Given the description of an element on the screen output the (x, y) to click on. 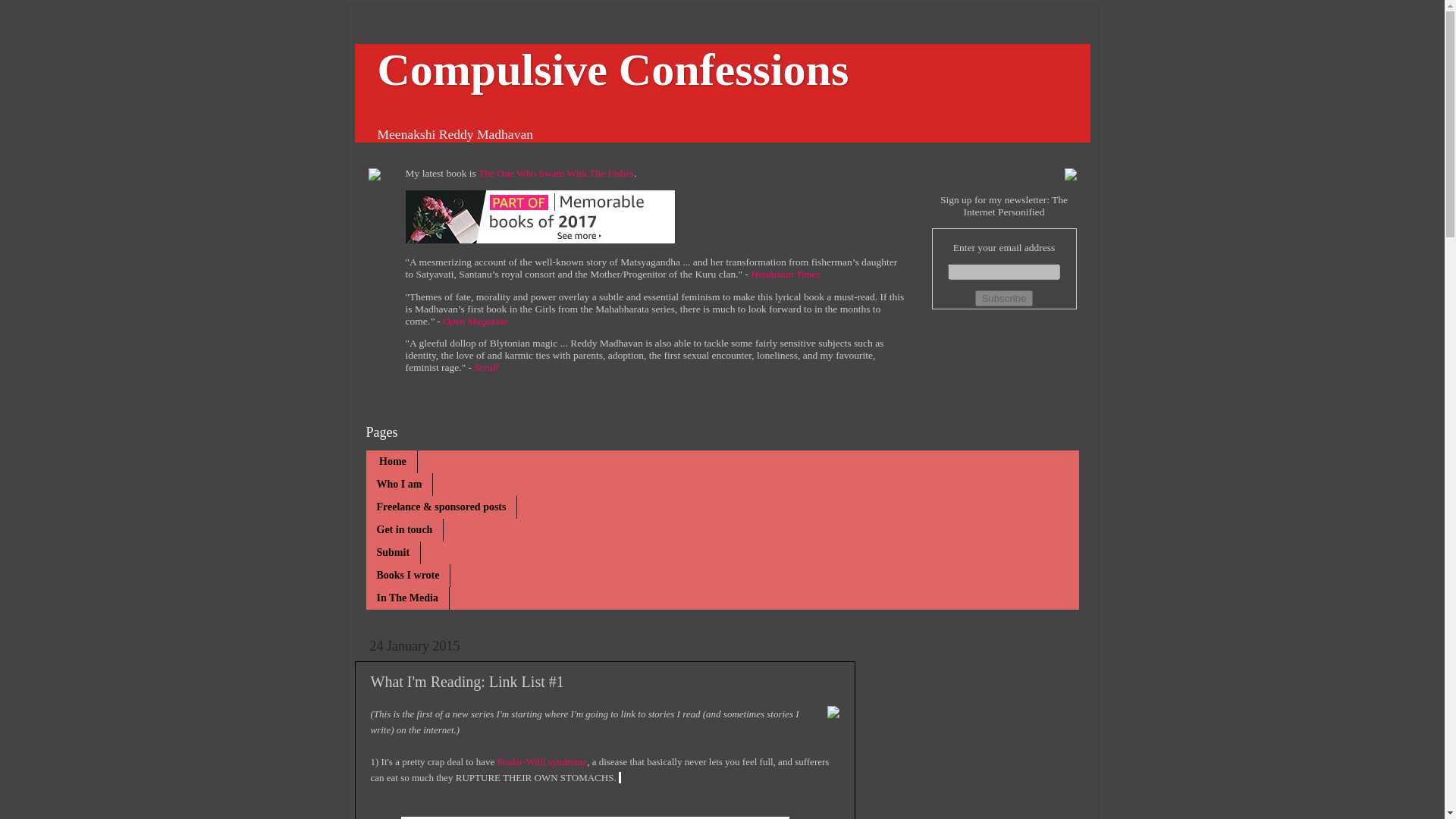
Scroll (485, 367)
Hindustan Times (785, 274)
Get in touch (404, 529)
Subscribe (1003, 298)
Open Magazine (475, 320)
Subscribe (1003, 298)
Who I am (398, 484)
Compulsive Confessions (612, 70)
Books I wrote (407, 575)
Submit (392, 552)
In The Media (406, 598)
Prader-Willi syndrome (540, 761)
The One Who Swam With The Fishes (556, 173)
Home (390, 461)
